Given the description of an element on the screen output the (x, y) to click on. 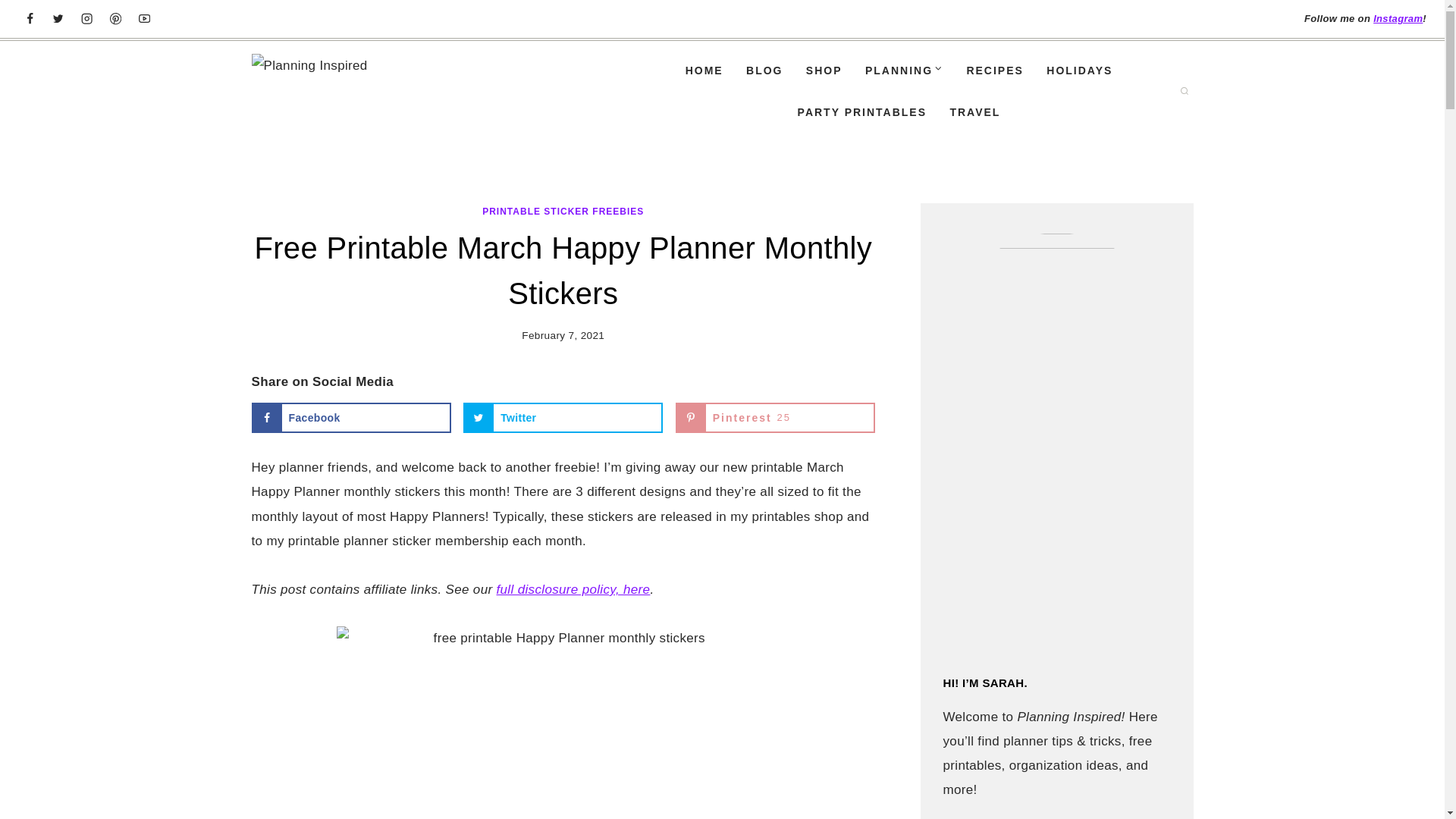
SHOP (823, 70)
Share on Twitter (562, 417)
HOLIDAYS (1079, 70)
PLANNING (775, 417)
Save to Pinterest (904, 70)
Share on Facebook (775, 417)
Facebook (351, 417)
Instagram (351, 417)
full disclosure policy, here (1397, 18)
